Given the description of an element on the screen output the (x, y) to click on. 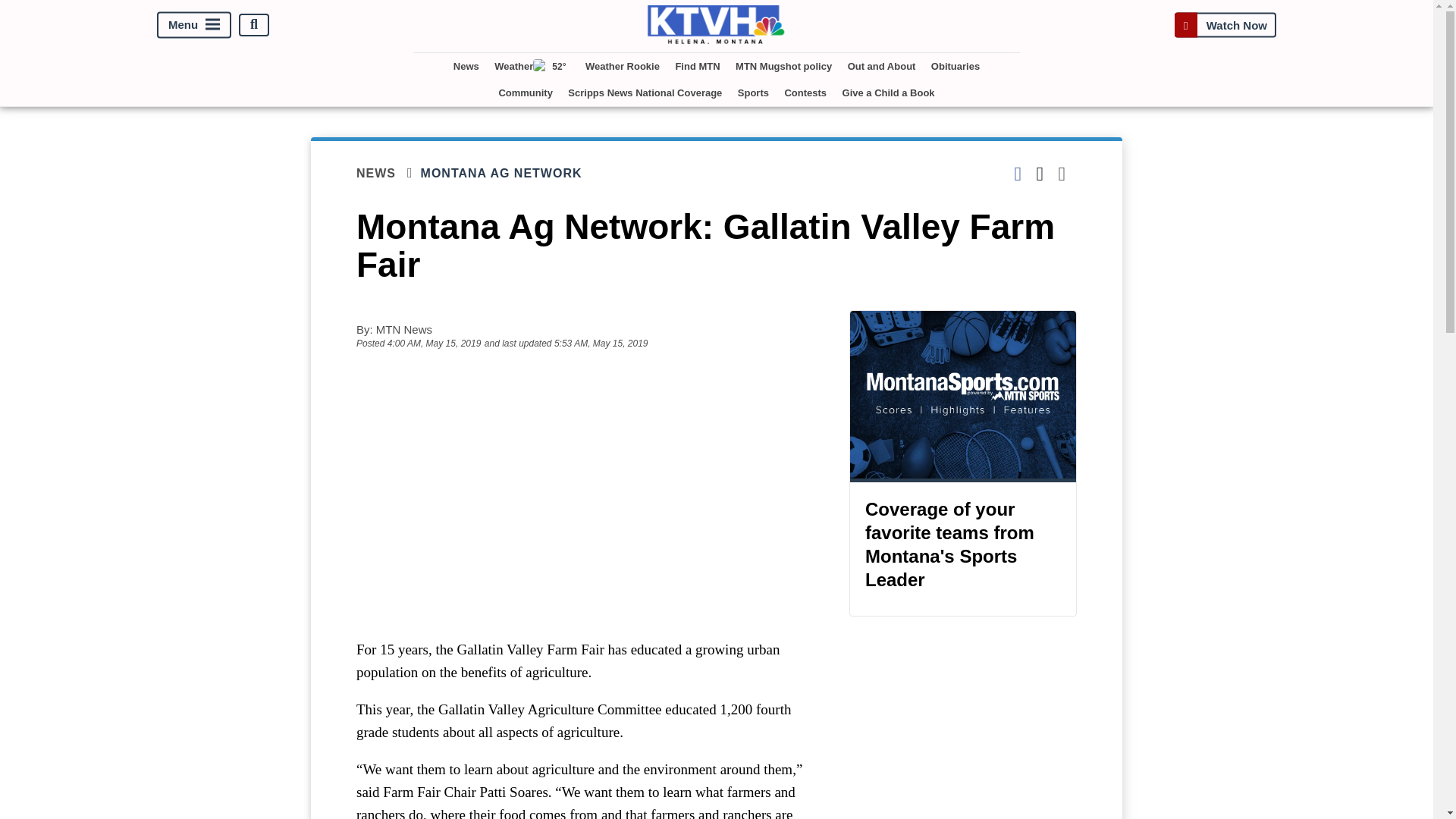
YouTube player (587, 493)
Watch Now (1224, 24)
Menu (194, 24)
